Given the description of an element on the screen output the (x, y) to click on. 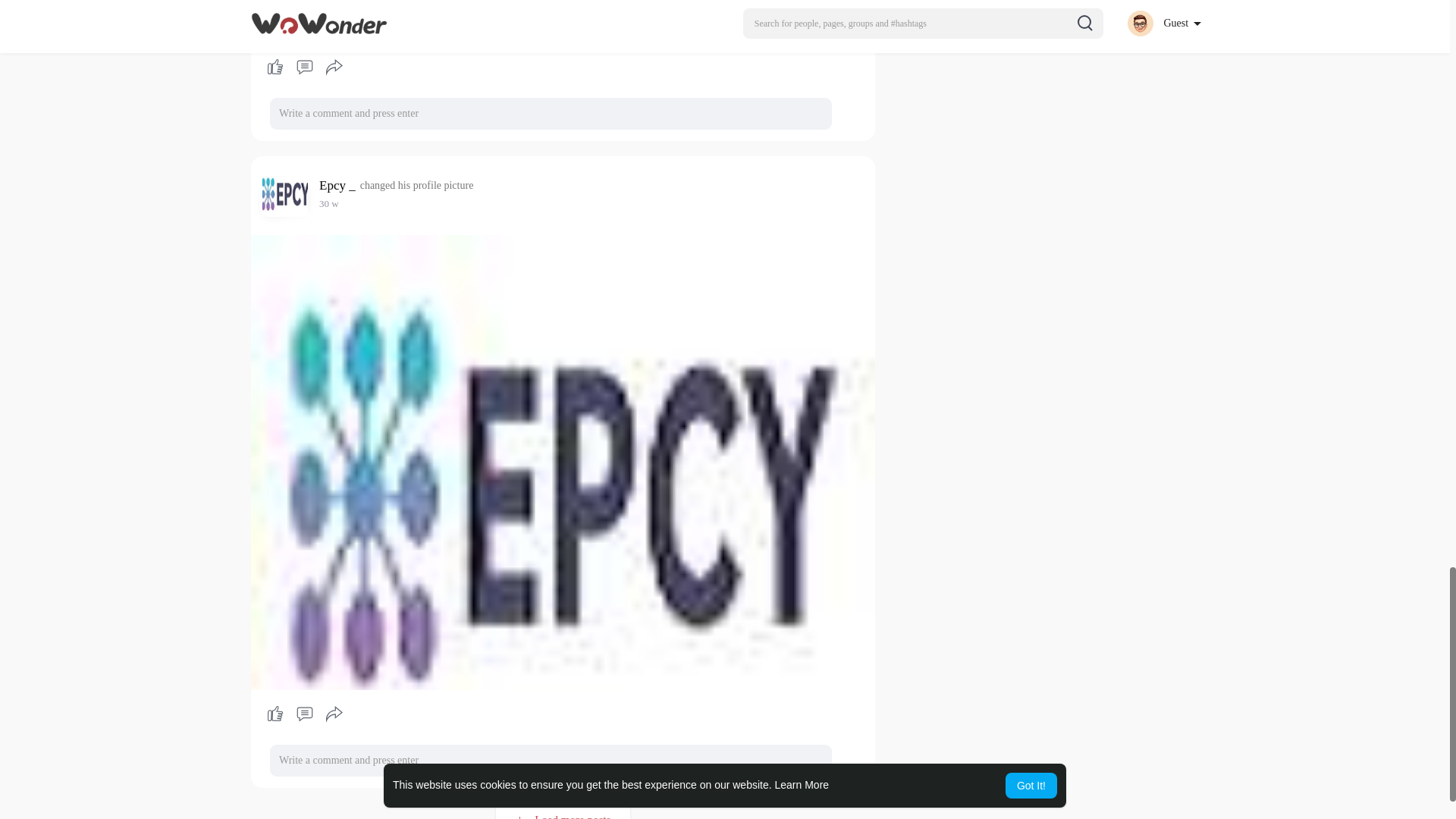
Share (334, 67)
30 w (328, 203)
30 w (328, 203)
Share (334, 714)
Comments (304, 714)
Comments (304, 67)
